Given the description of an element on the screen output the (x, y) to click on. 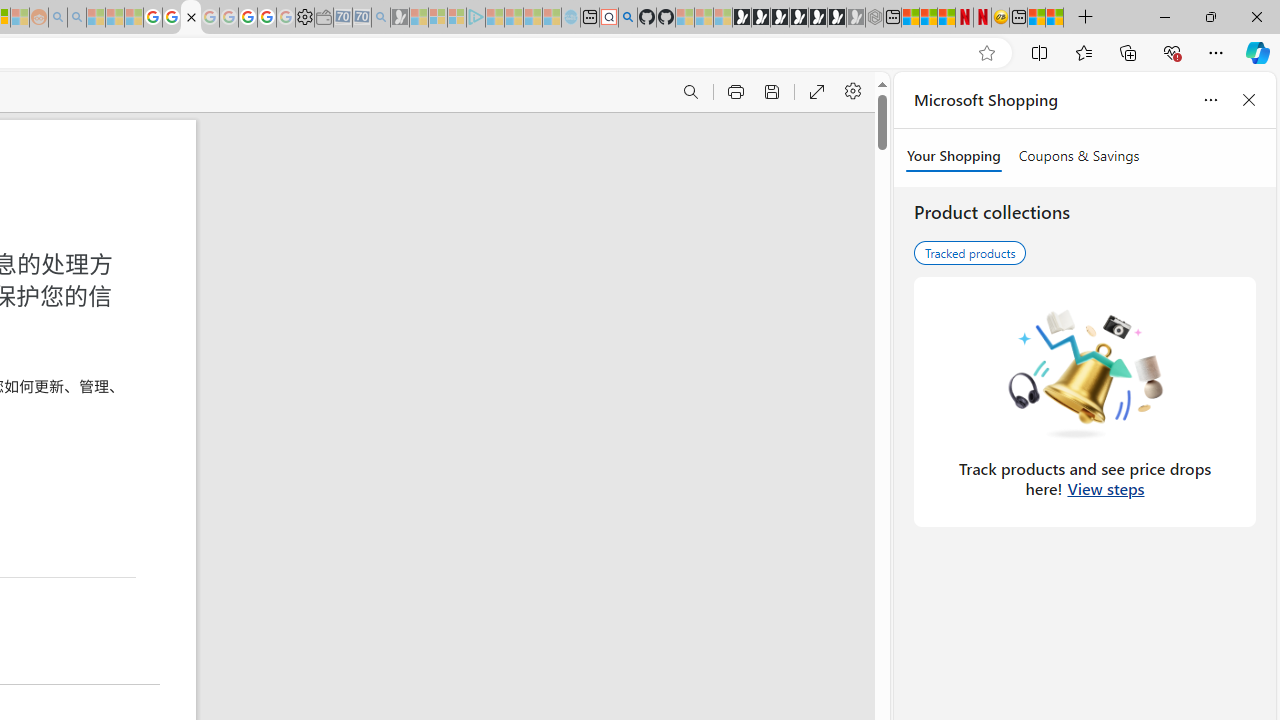
Microsoft account | Privacy - Sleeping (456, 17)
github - Search (628, 17)
Bing Real Estate - Home sales and rental listings - Sleeping (381, 17)
Wallet - Sleeping (323, 17)
Wildlife - MSN (1035, 17)
Cheap Car Rentals - Save70.com - Sleeping (362, 17)
google_privacy_policy_zh-CN.pdf (190, 17)
